Given the description of an element on the screen output the (x, y) to click on. 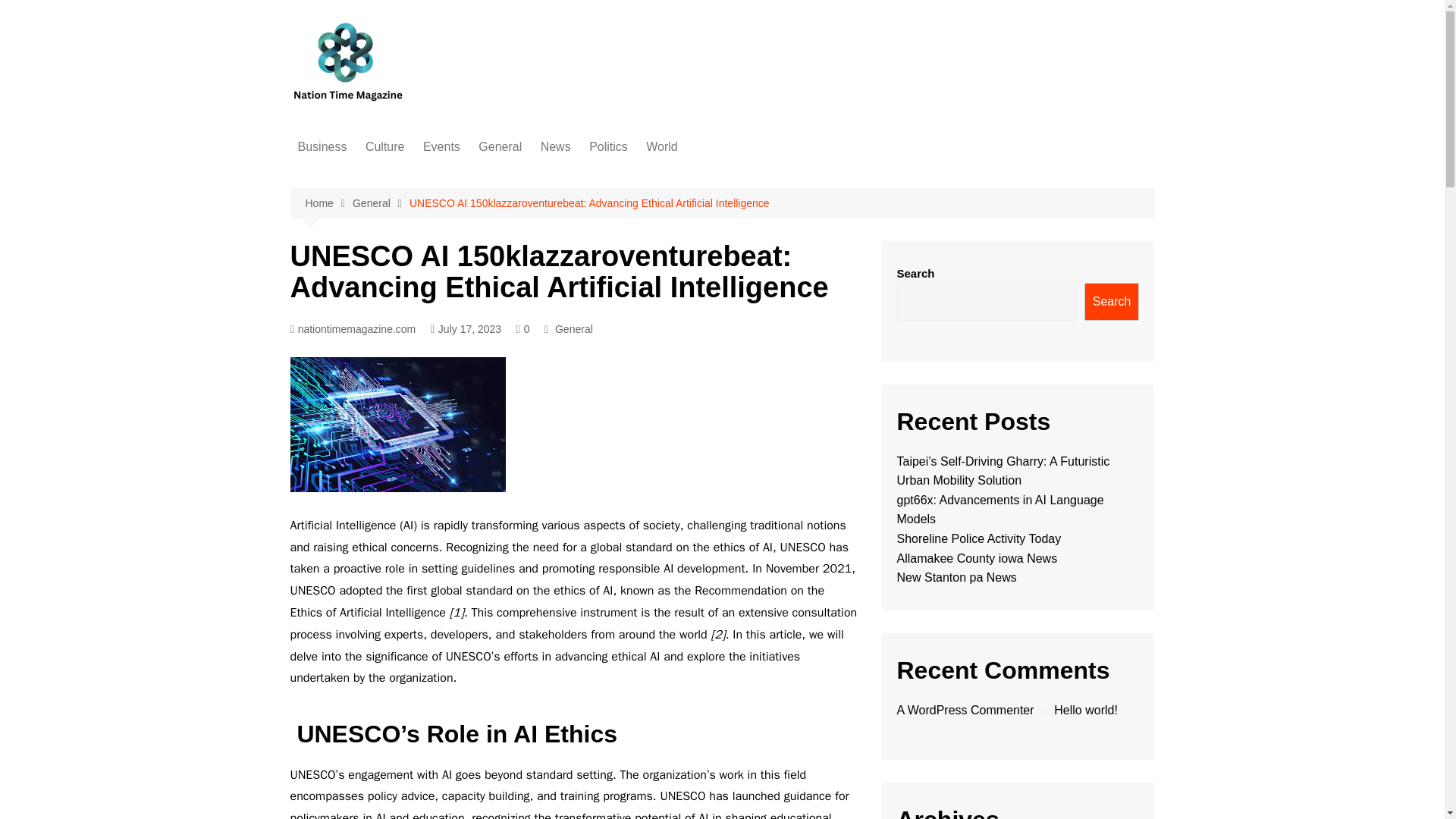
Politics (607, 146)
Culture (385, 146)
General (573, 329)
July 17, 2023 (465, 329)
nationtimemagazine.com (351, 329)
Business (321, 146)
Home (328, 203)
Events (440, 146)
General (380, 203)
News (555, 146)
